Given the description of an element on the screen output the (x, y) to click on. 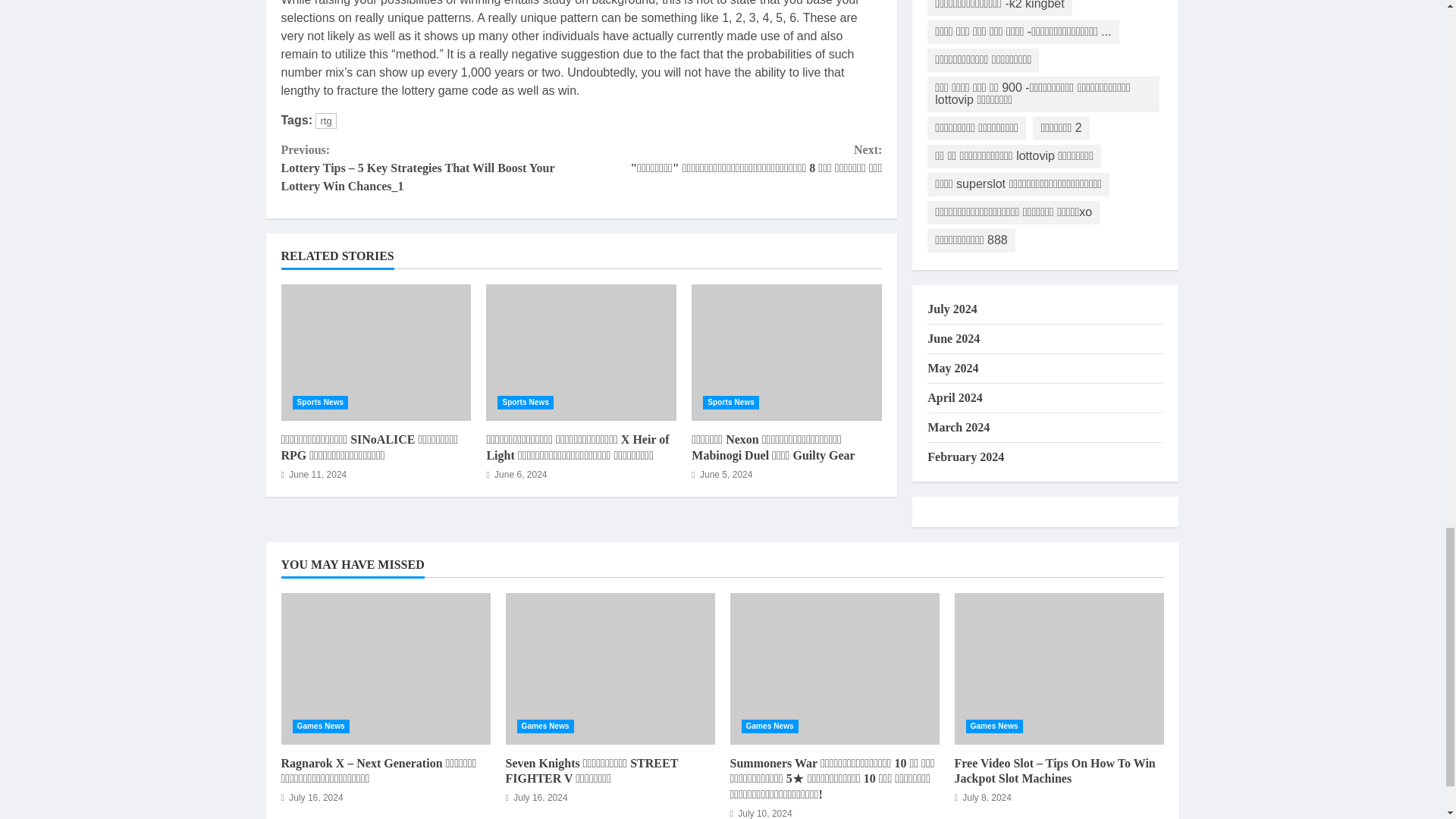
Sports News (525, 402)
rtg (325, 120)
Sports News (730, 402)
Sports News (320, 402)
